Given the description of an element on the screen output the (x, y) to click on. 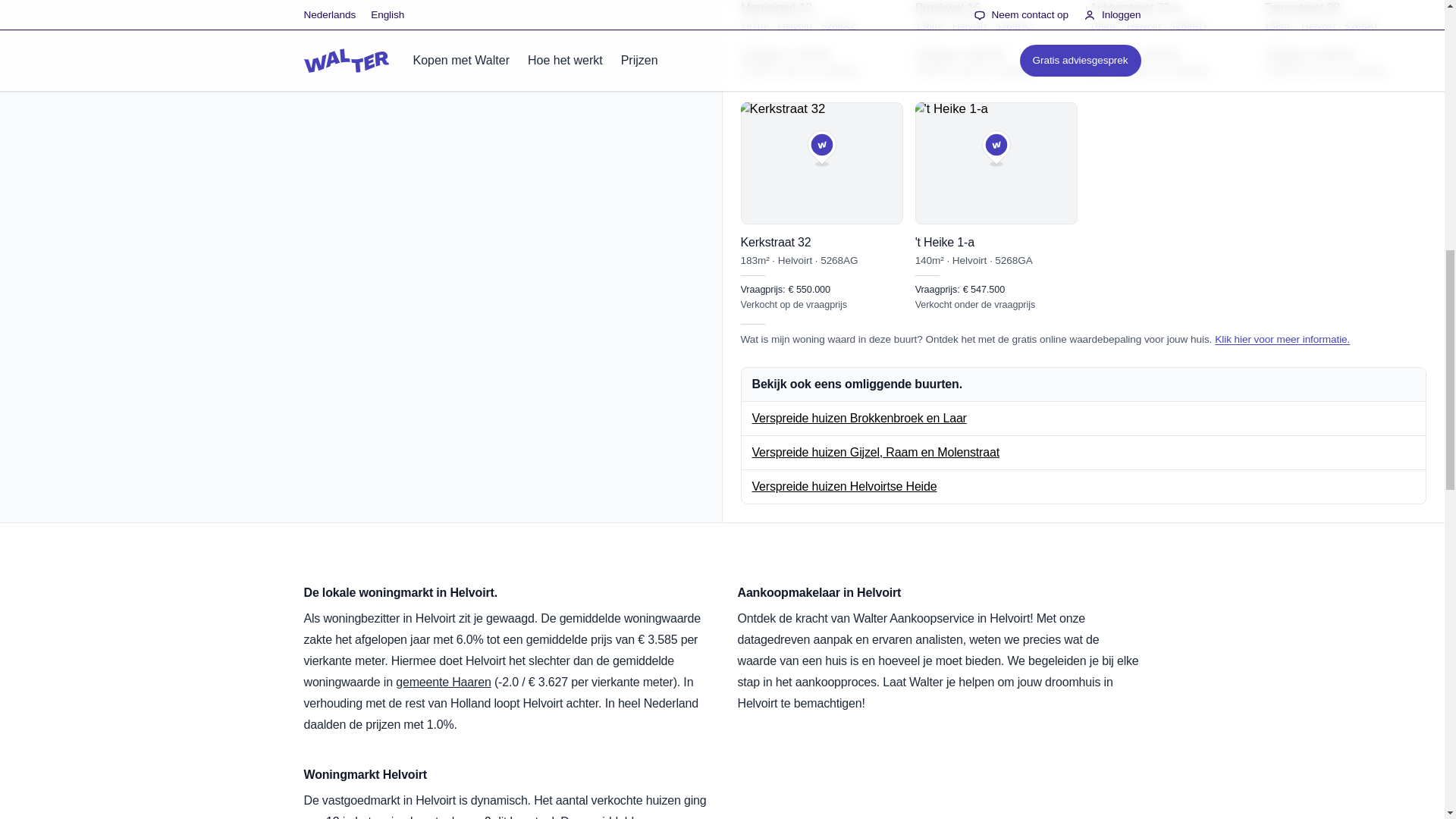
Martinipad 12, Helvoirt (820, 39)
Achterstraat 72-a, Helvoirt (1170, 39)
Broekwal 16, Helvoirt (996, 39)
Torenstraat 28, Helvoirt (1344, 39)
